Given the description of an element on the screen output the (x, y) to click on. 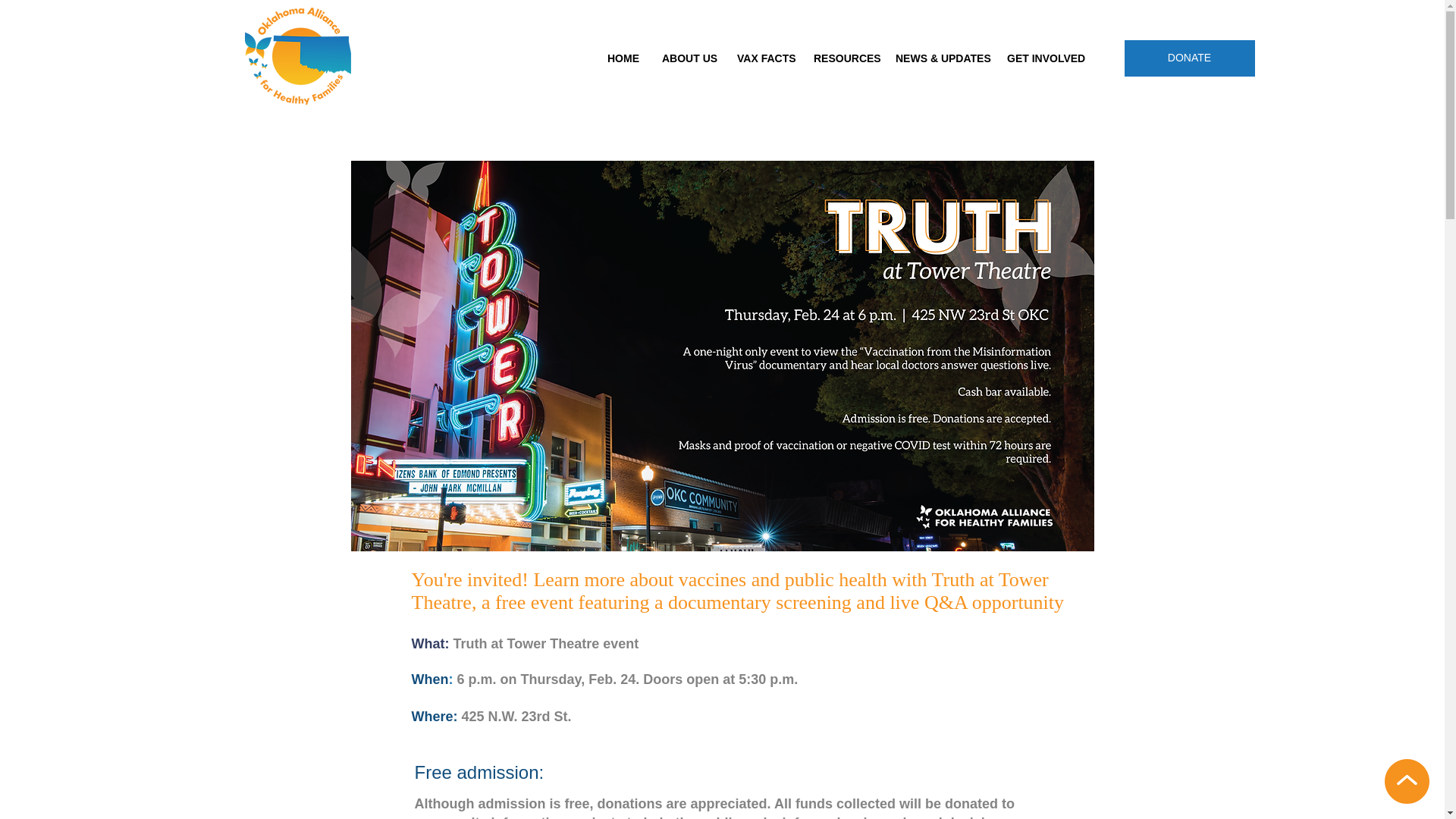
GET INVOLVED (1042, 58)
RESOURCES (842, 58)
ABOUT US (687, 58)
DONATE (1188, 58)
HOME (622, 58)
VAX FACTS (763, 58)
